Given the description of an element on the screen output the (x, y) to click on. 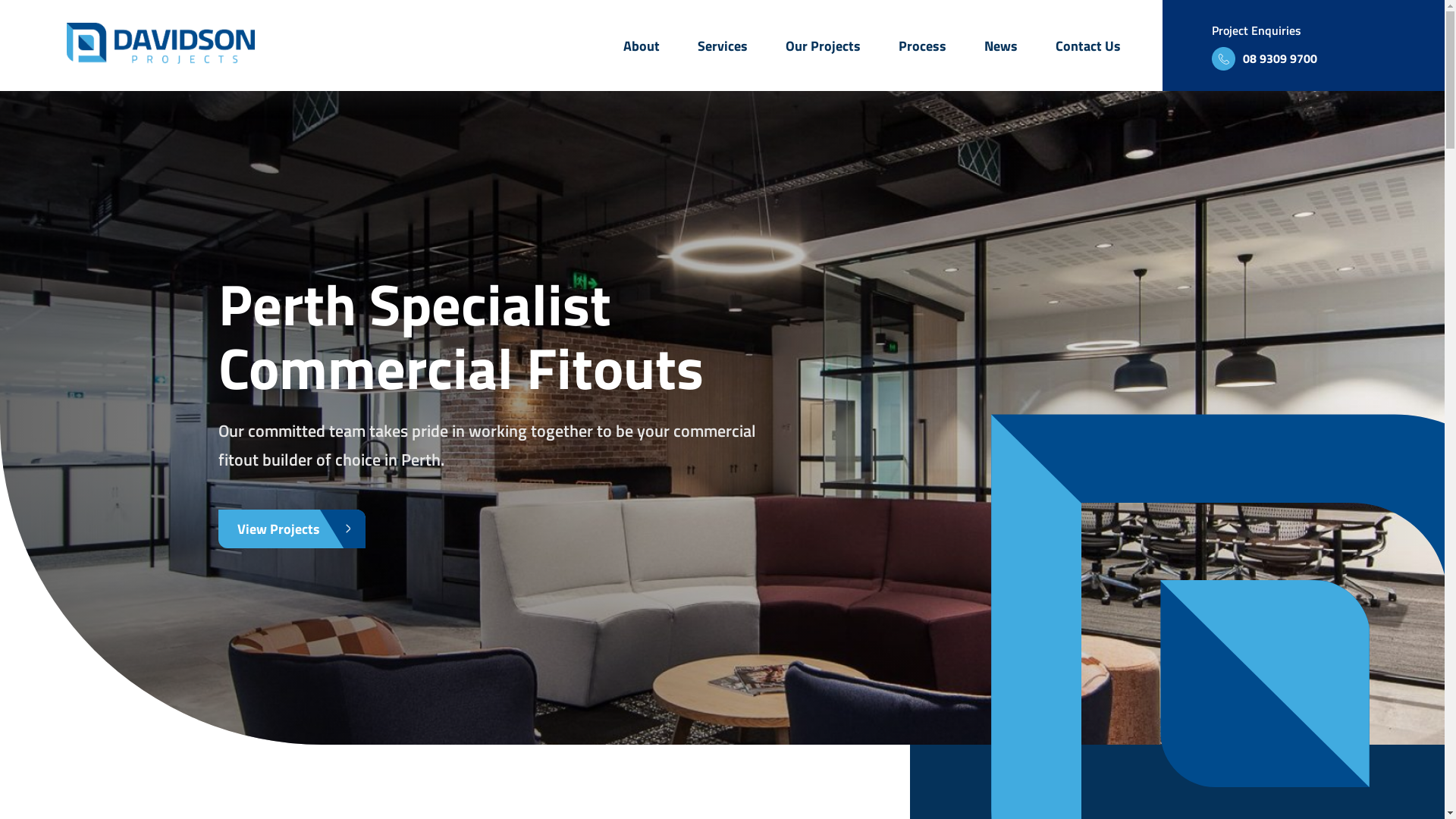
Contact Us Element type: text (1087, 45)
08 9309 9700 Element type: text (1264, 58)
About Element type: text (641, 45)
Our Projects Element type: text (822, 45)
Services Element type: text (722, 45)
Davidson Projects Element type: hover (160, 59)
News Element type: text (1000, 45)
View Projects Element type: text (291, 528)
Process Element type: text (921, 45)
